Given the description of an element on the screen output the (x, y) to click on. 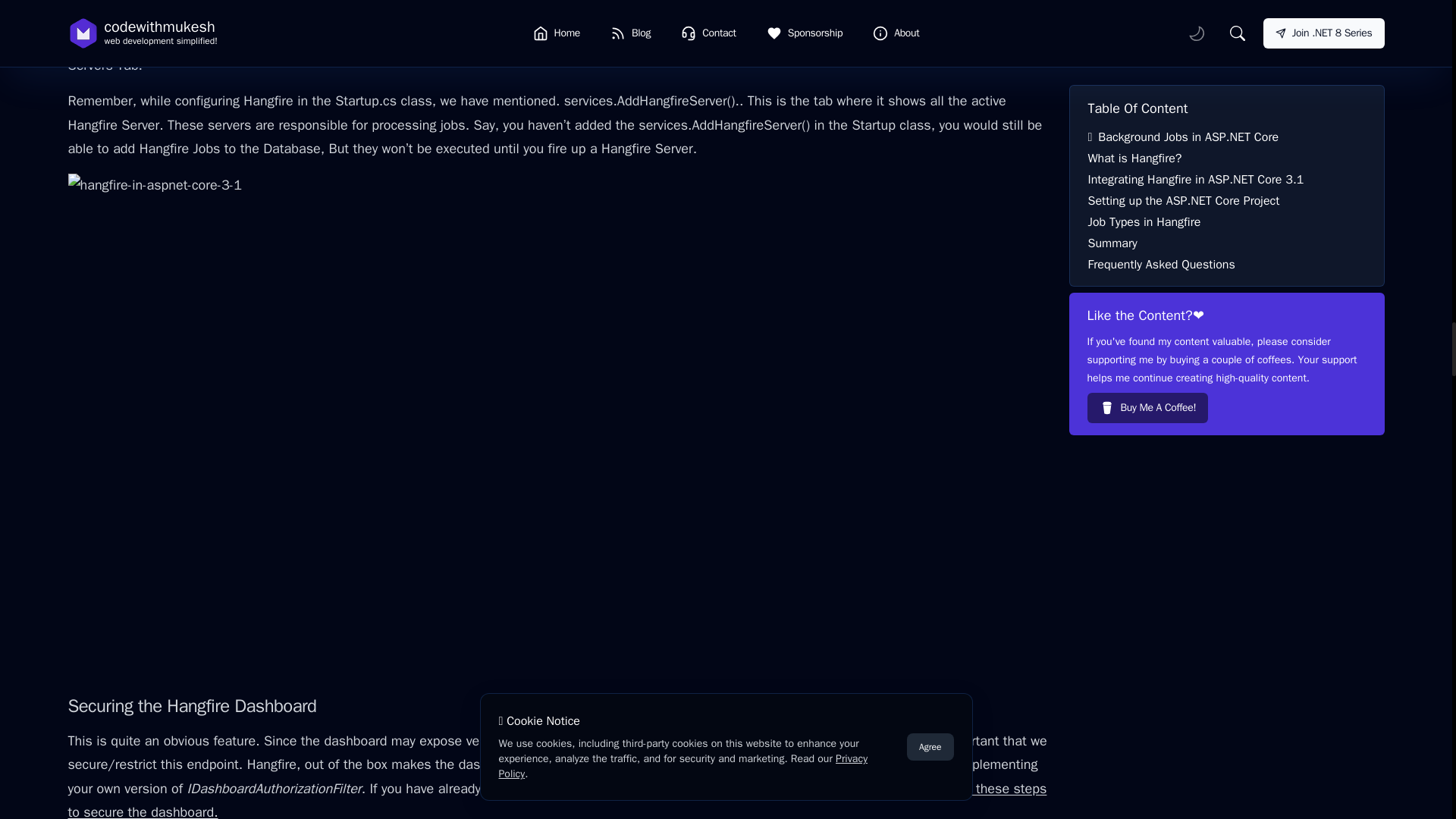
Refer to these steps to secure the dashboard. (557, 799)
hangfire-in-aspnet-core-3-1 (559, 20)
